Given the description of an element on the screen output the (x, y) to click on. 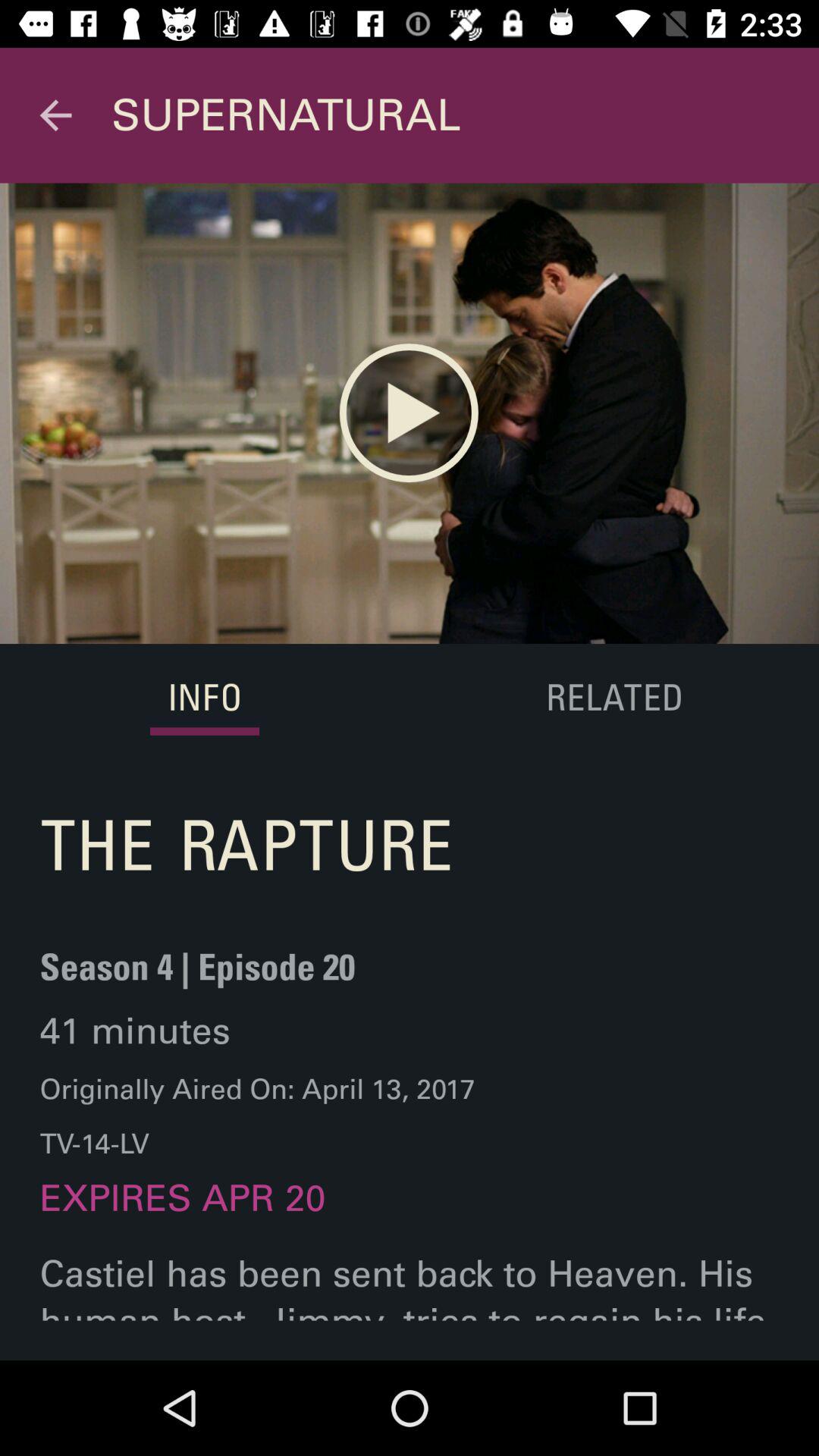
jump until castiel has been icon (409, 1305)
